Given the description of an element on the screen output the (x, y) to click on. 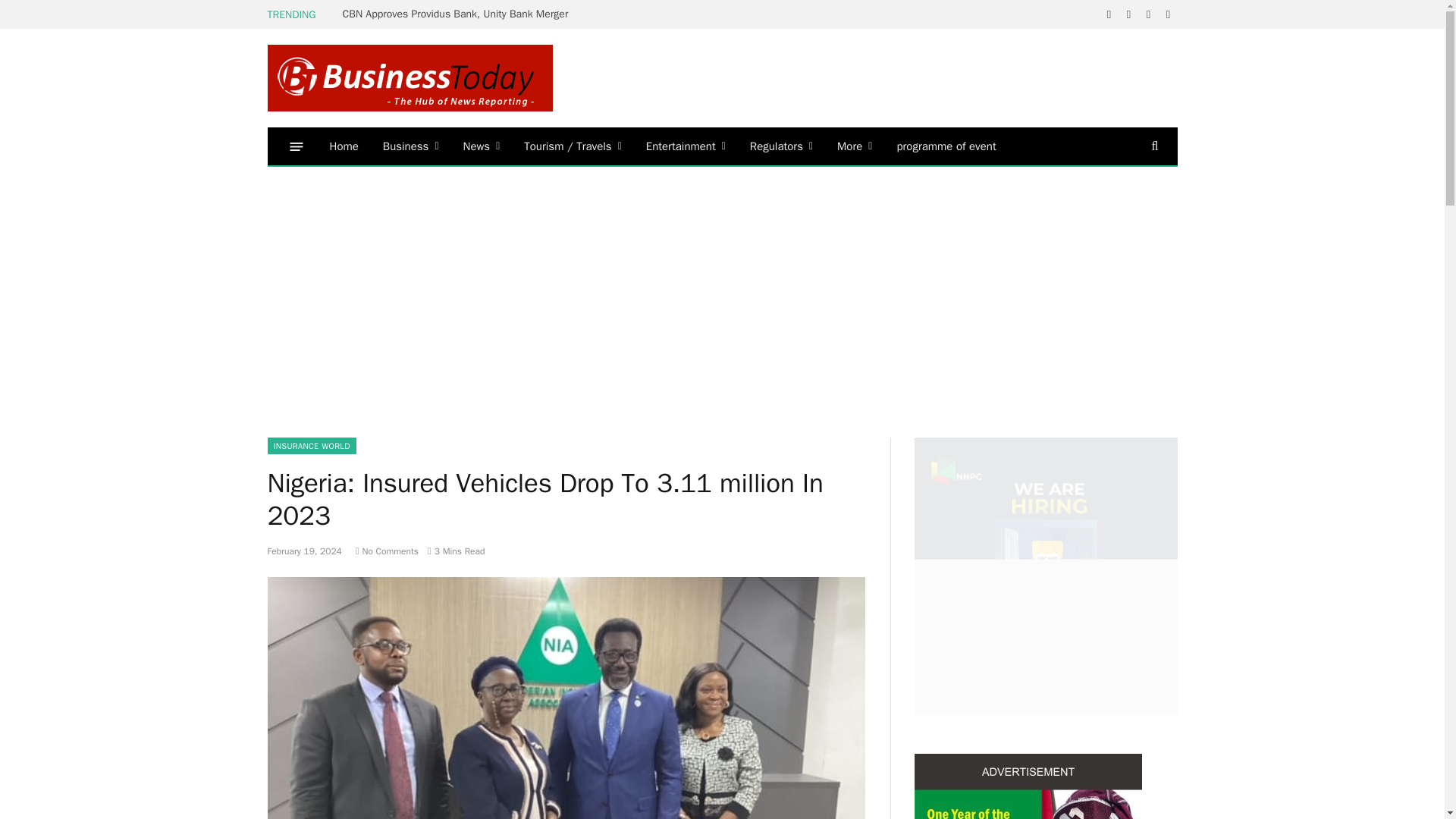
CBN Approves Providus Bank, Unity Bank Merger (459, 14)
Home (343, 146)
Business (411, 146)
Business Today NG (408, 77)
